Given the description of an element on the screen output the (x, y) to click on. 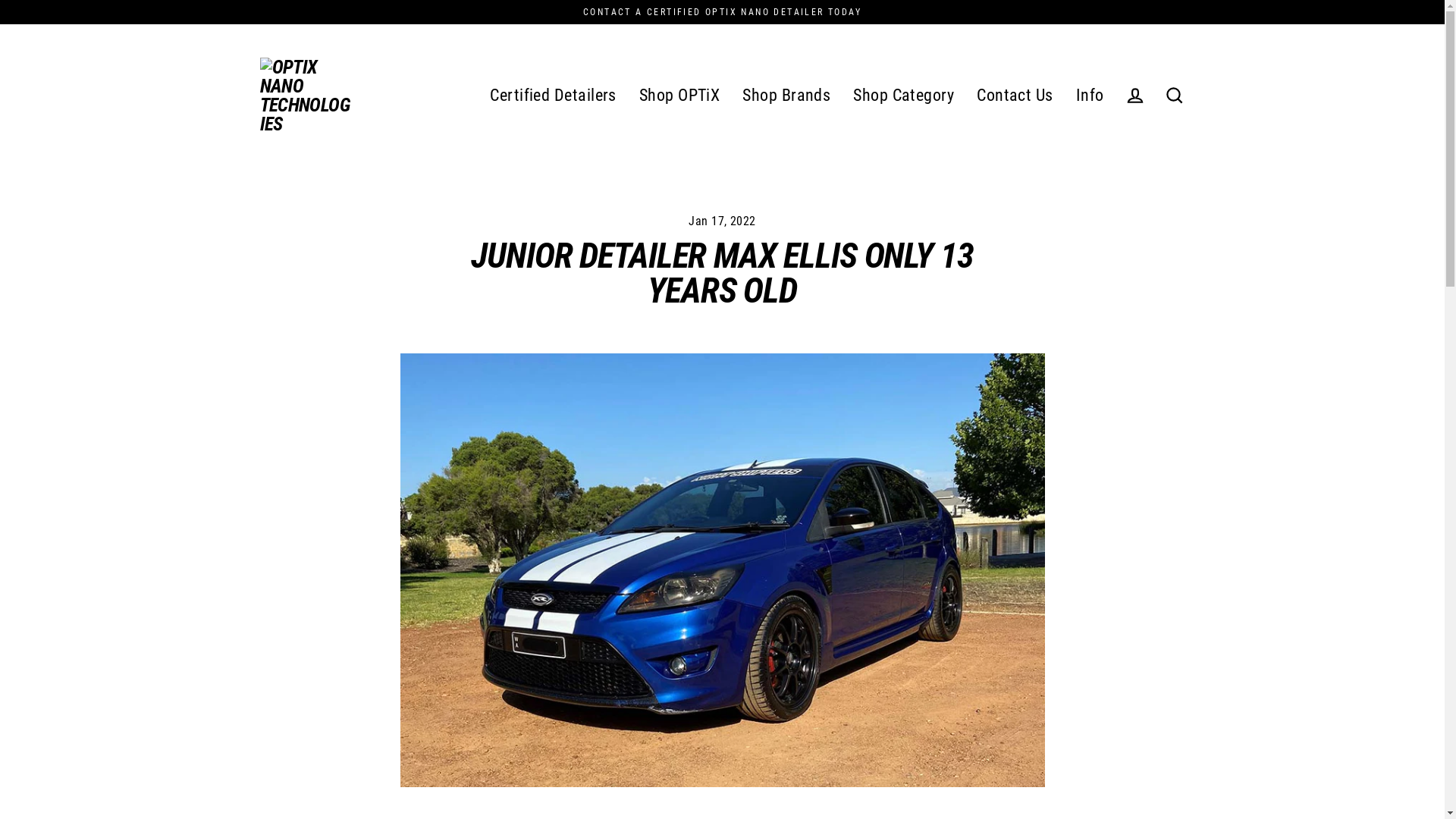
Log in Element type: text (1134, 94)
Contact Us Element type: text (1014, 94)
Search Element type: text (1173, 94)
Info Element type: text (1089, 94)
Skip to content Element type: text (0, 0)
Shop Category Element type: text (903, 94)
Certified Detailers Element type: text (552, 94)
Shop Brands Element type: text (786, 94)
CONTACT A CERTIFIED OPTIX NANO DETAILER TODAY Element type: text (722, 12)
Shop OPTiX Element type: text (679, 94)
